Given the description of an element on the screen output the (x, y) to click on. 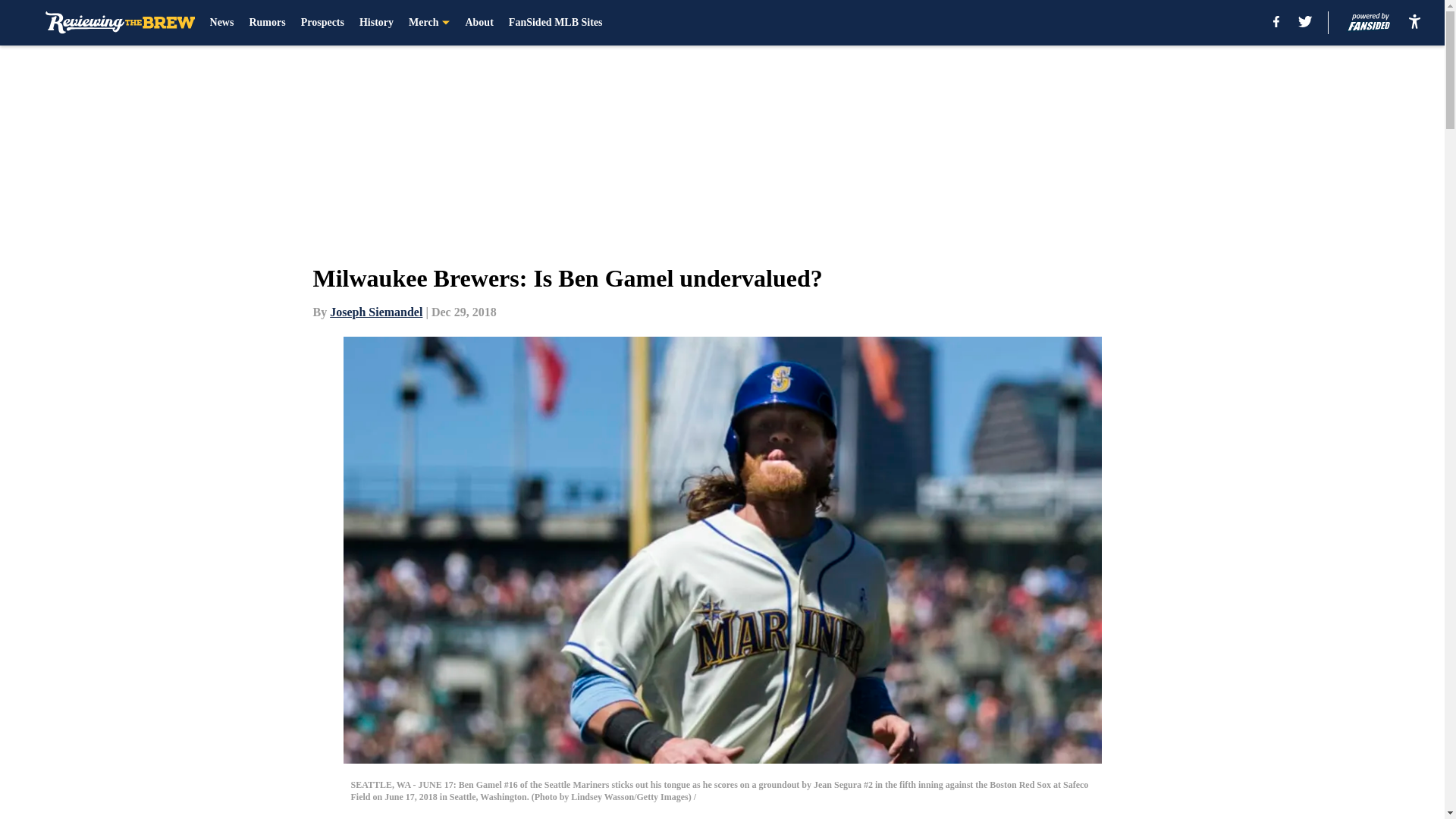
FanSided MLB Sites (555, 22)
Joseph Siemandel (376, 311)
News (221, 22)
History (376, 22)
About (478, 22)
Prospects (322, 22)
Rumors (266, 22)
